Given the description of an element on the screen output the (x, y) to click on. 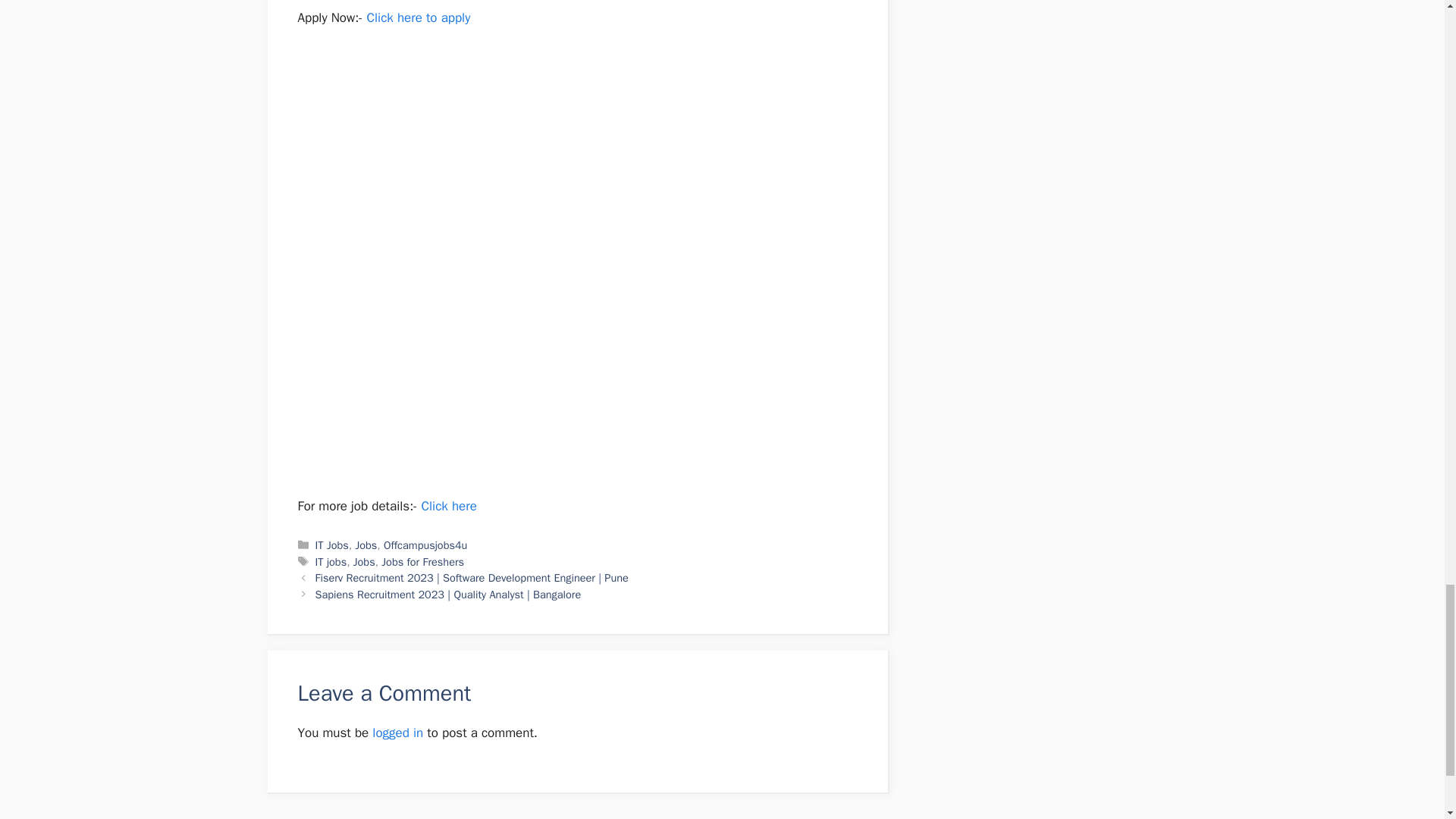
logged in (397, 732)
Jobs (364, 561)
Click here to apply (418, 17)
Offcampusjobs4u (425, 545)
Jobs (366, 545)
Jobs for Freshers (422, 561)
IT Jobs (332, 545)
IT jobs (331, 561)
Click here (448, 505)
